Given the description of an element on the screen output the (x, y) to click on. 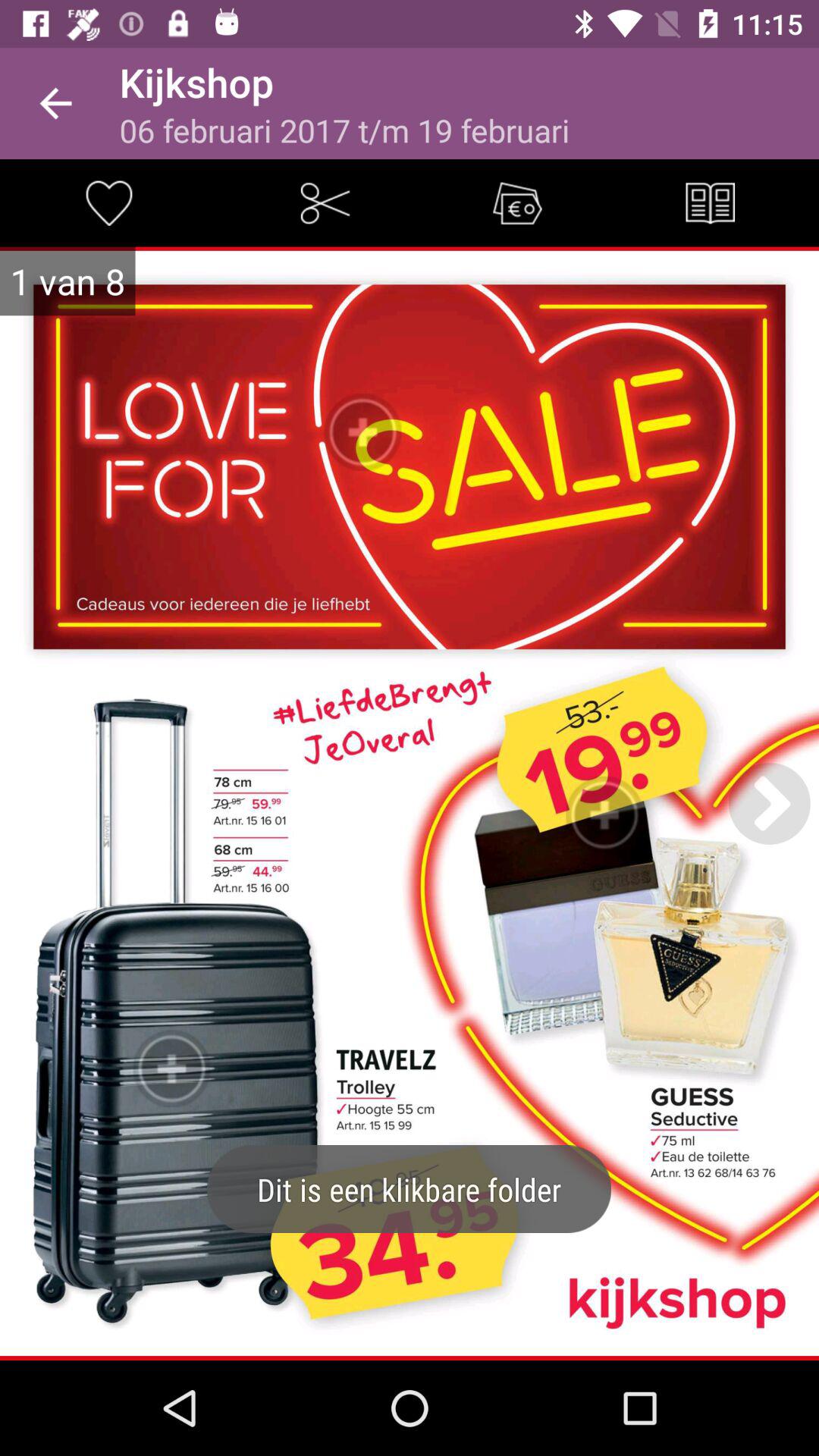
choose the item next to the kijkshop icon (55, 103)
